Given the description of an element on the screen output the (x, y) to click on. 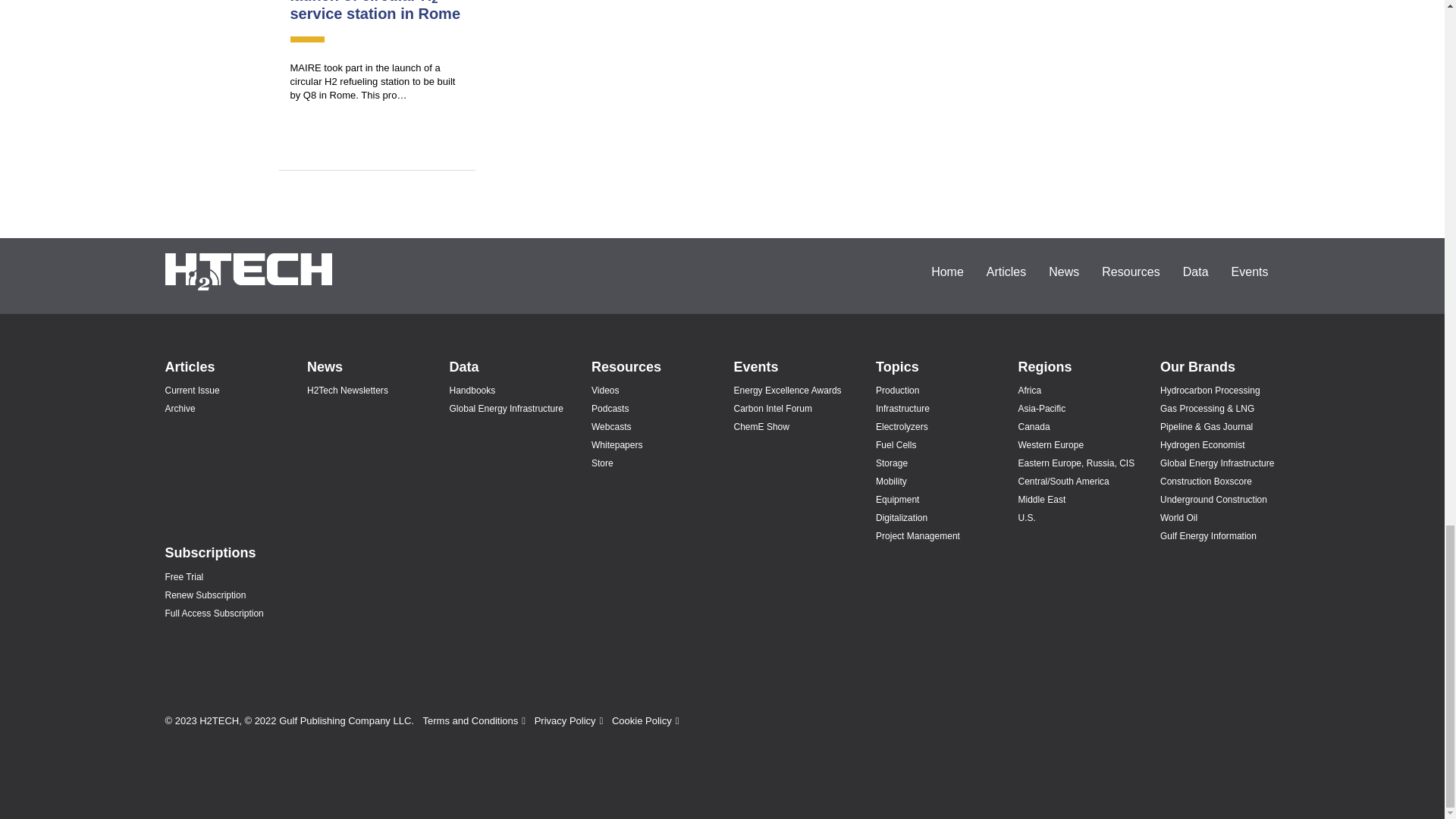
H2TECH (248, 270)
